Given the description of an element on the screen output the (x, y) to click on. 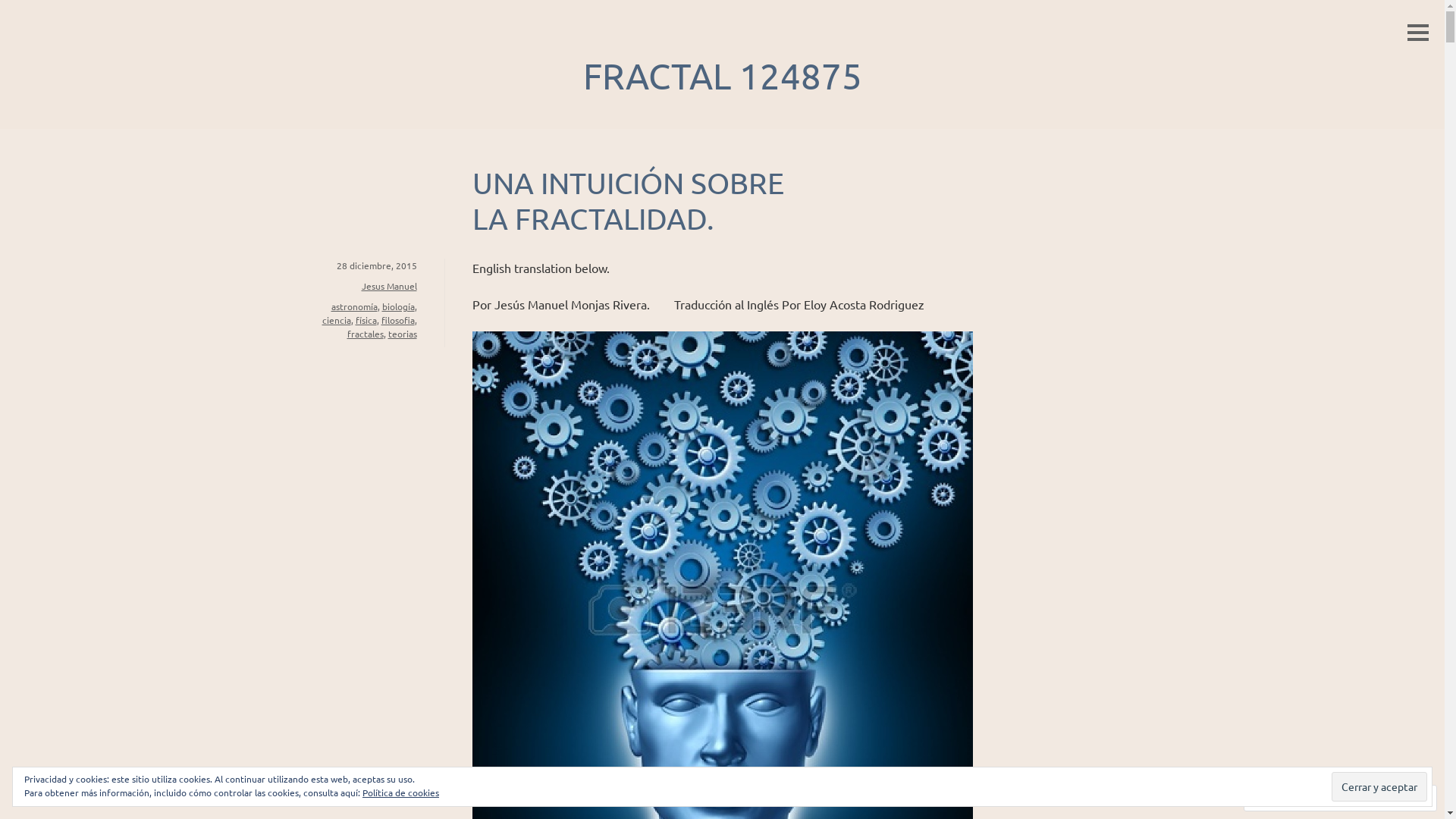
teorias Element type: text (402, 333)
fractales Element type: text (365, 333)
FRACTAL 124875 Element type: text (721, 75)
Jesus Manuel Element type: text (388, 285)
Barra lateral Element type: hover (1417, 33)
Comentarios Element type: text (1292, 797)
28 diciembre, 2015 Element type: text (376, 265)
Seguir Element type: text (1374, 797)
ciencia Element type: text (335, 319)
Cerrar y aceptar Element type: text (1379, 786)
filosofia Element type: text (397, 319)
Buscar Element type: text (32, 12)
